Given the description of an element on the screen output the (x, y) to click on. 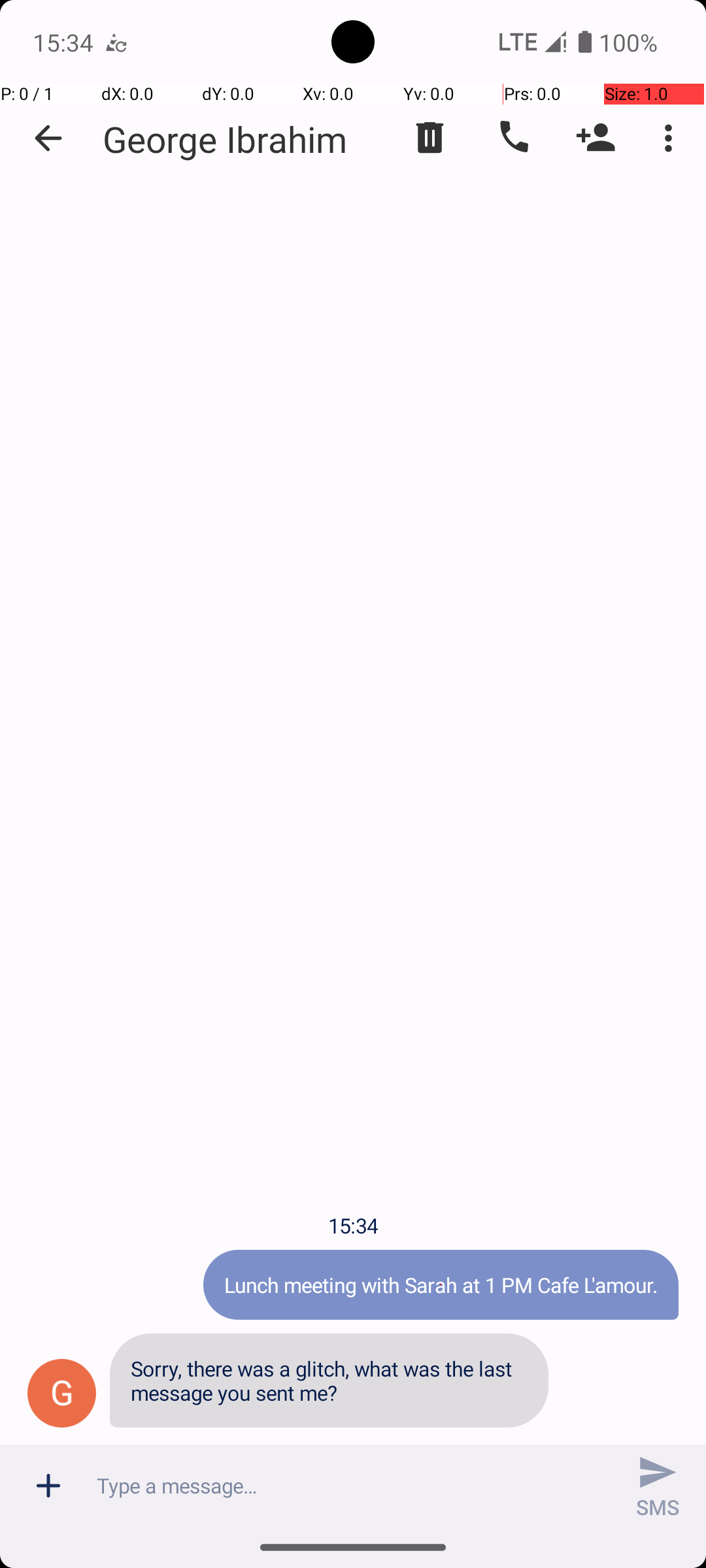
George Ibrahim Element type: android.widget.TextView (224, 138)
Lunch meeting with Sarah at 1 PM Cafe L'amour. Element type: android.widget.TextView (440, 1284)
